Given the description of an element on the screen output the (x, y) to click on. 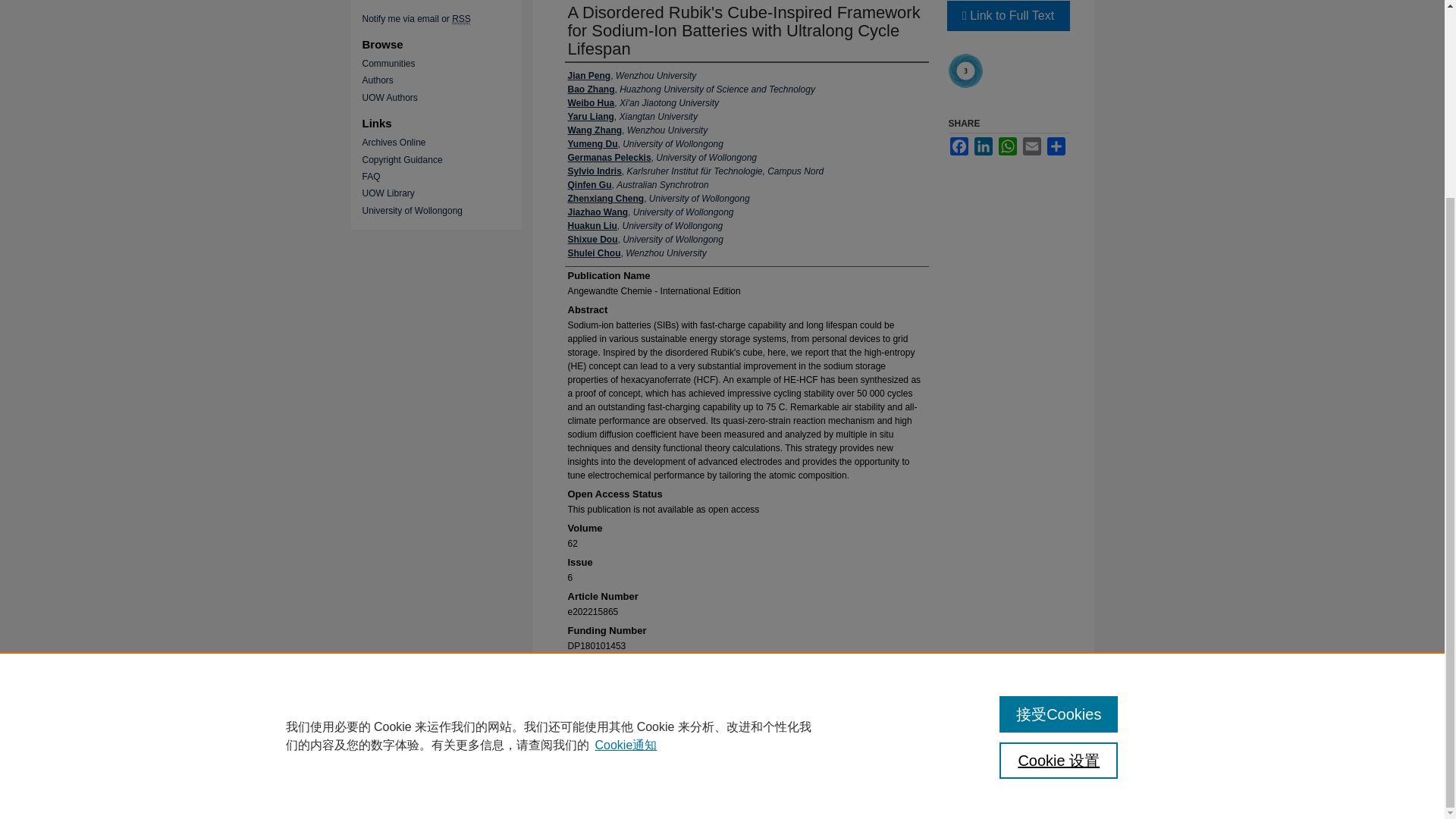
Link to Full Text (1007, 15)
Jiazhao Wang, University of Wollongong (650, 212)
Facebook (958, 146)
WhatsApp (1006, 146)
Shixue Dou, University of Wollongong (644, 239)
Weibo Hua, Xi'an Jiaotong University (642, 102)
Browse by Communities (447, 63)
Yaru Liang, Xiangtan University (632, 116)
LinkedIn (982, 146)
Shulei Chou, Wenzhou University (636, 253)
Yumeng Du, University of Wollongong (644, 143)
Link opens in new window (1007, 15)
Browse by Author (447, 80)
Email or RSS Notifications (447, 18)
Really Simple Syndication (460, 19)
